Given the description of an element on the screen output the (x, y) to click on. 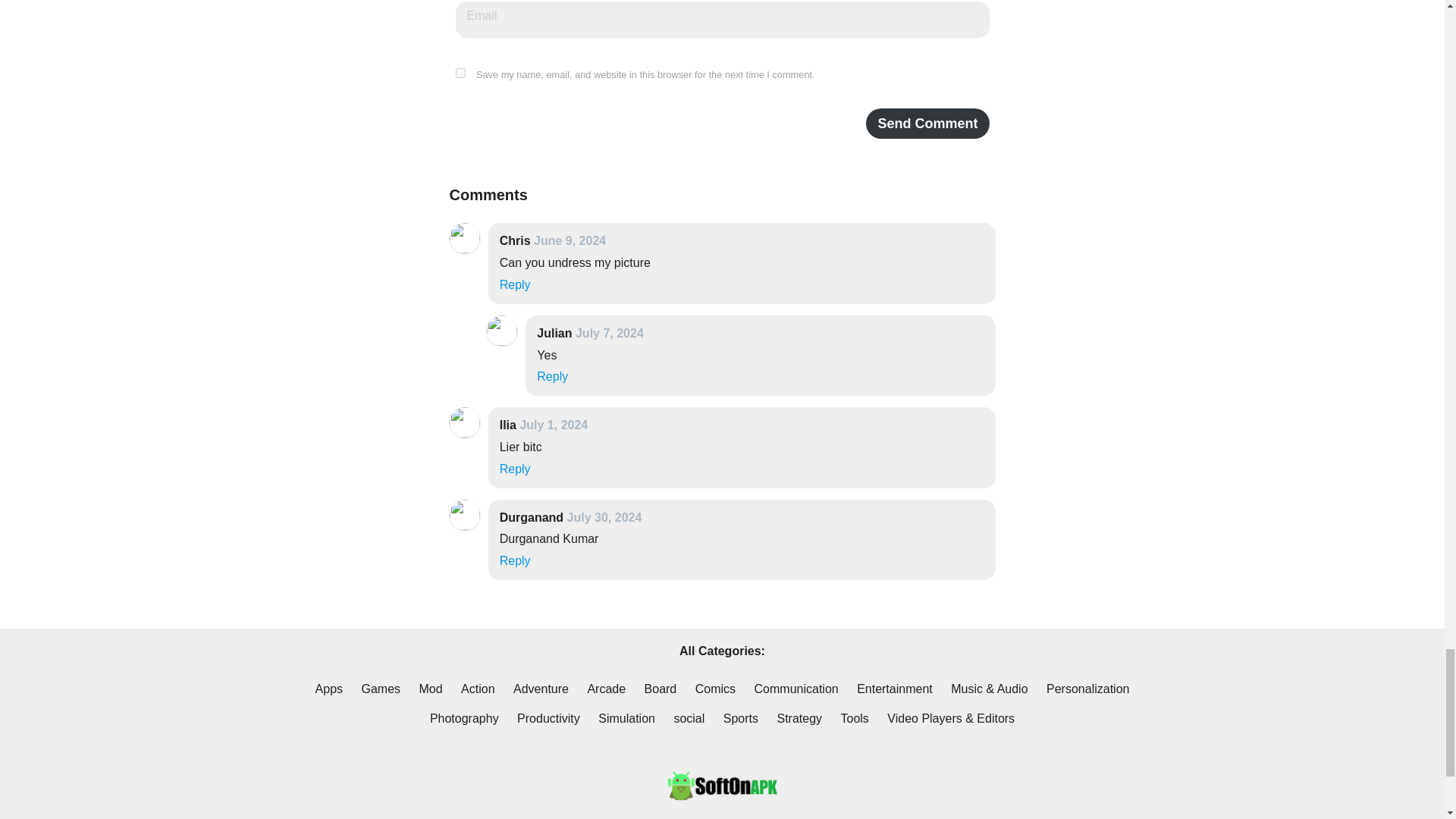
Reply (552, 376)
Apps (328, 688)
Reply (515, 284)
Reply (515, 468)
Send Comment (927, 123)
yes (459, 72)
Send Comment (927, 123)
Games (380, 688)
Reply (515, 560)
